Given the description of an element on the screen output the (x, y) to click on. 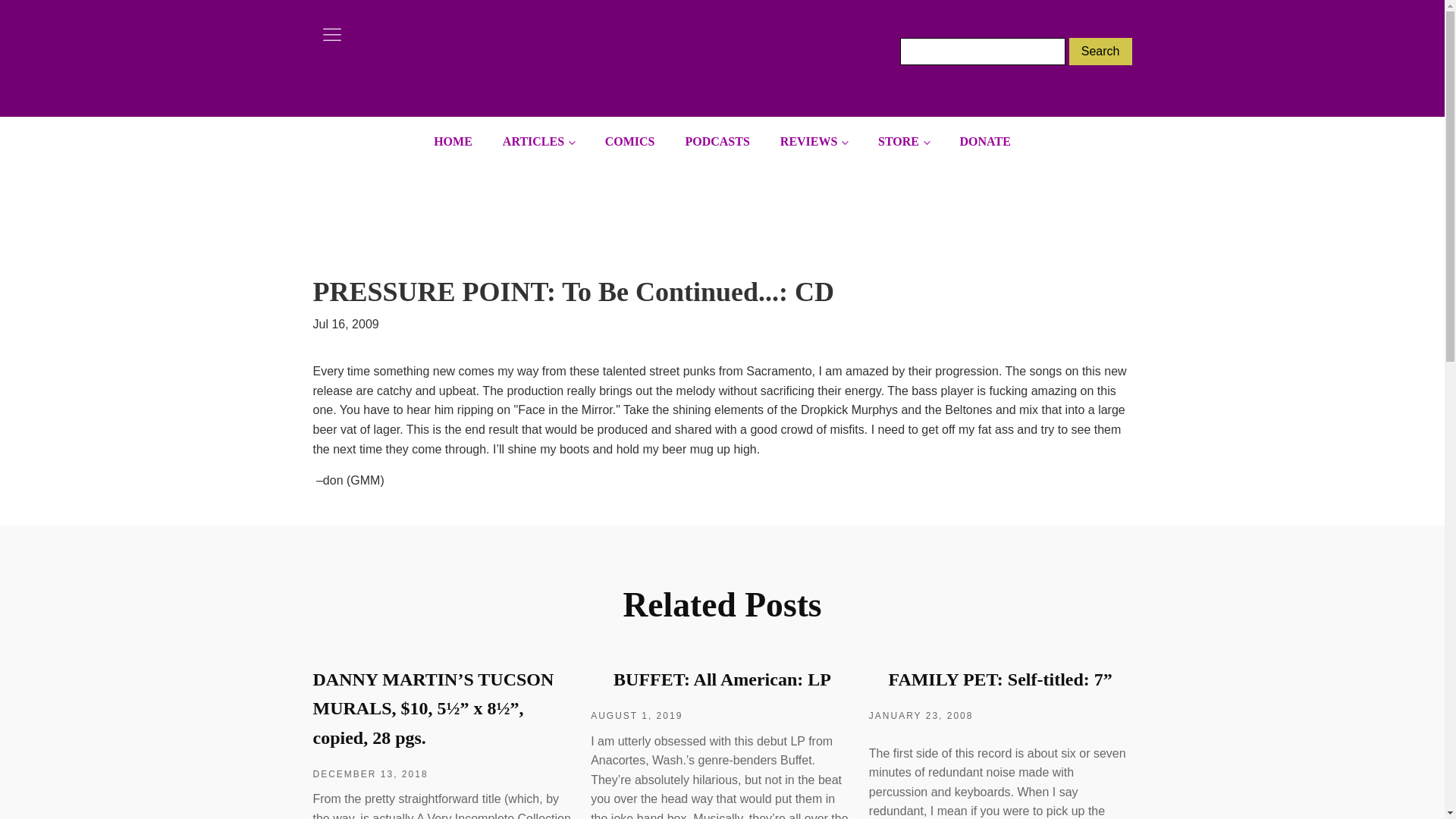
Search (1100, 51)
ARTICLES (538, 142)
Search (1100, 51)
PODCASTS (716, 142)
HOME (453, 142)
COMICS (629, 142)
